Given the description of an element on the screen output the (x, y) to click on. 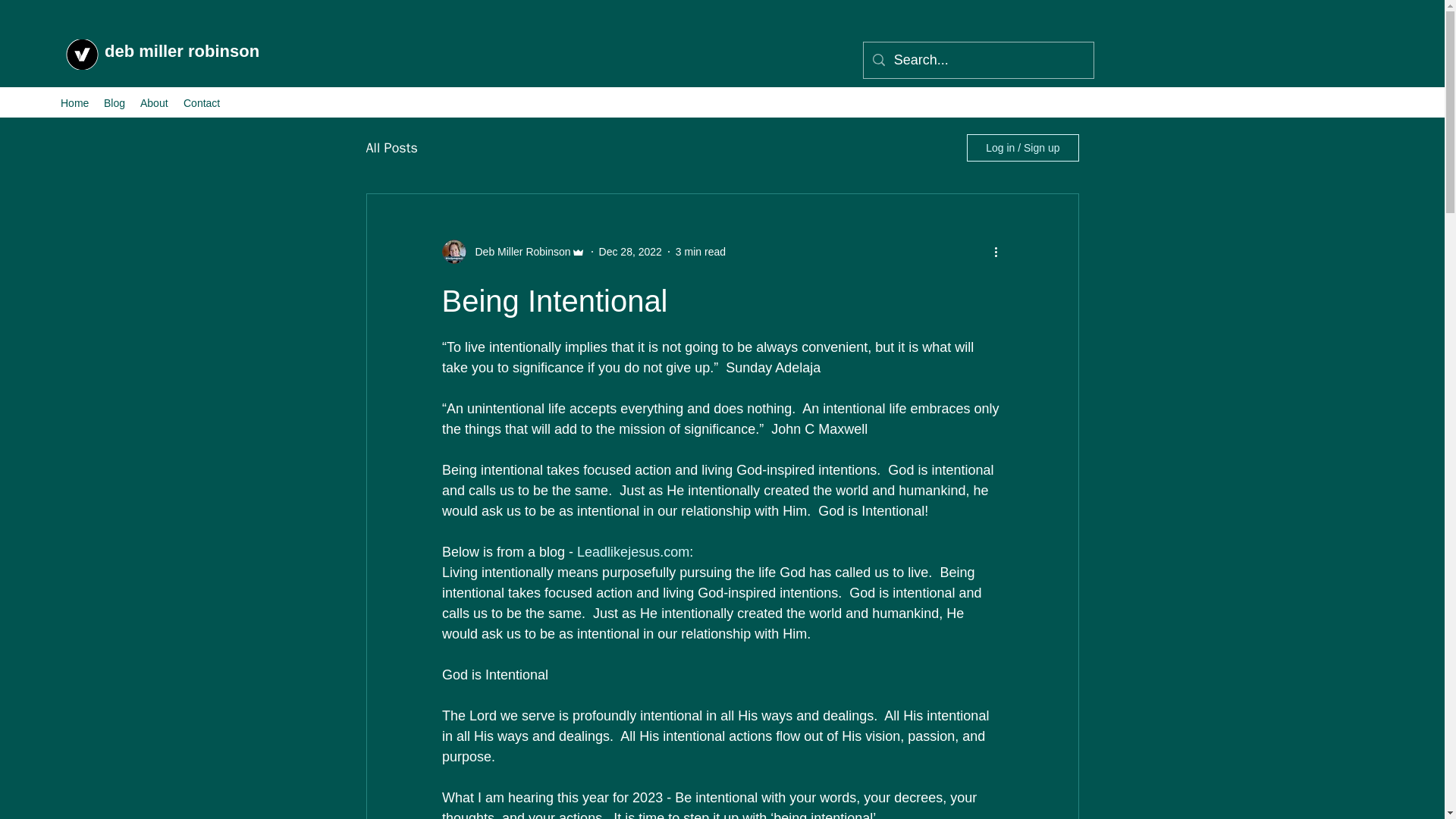
Contact (201, 102)
Leadlikejesus.com (632, 551)
All Posts (390, 147)
Dec 28, 2022 (630, 251)
Blog (114, 102)
Deb Miller Robinson (517, 252)
About (154, 102)
Home (74, 102)
3 min read (700, 251)
